Given the description of an element on the screen output the (x, y) to click on. 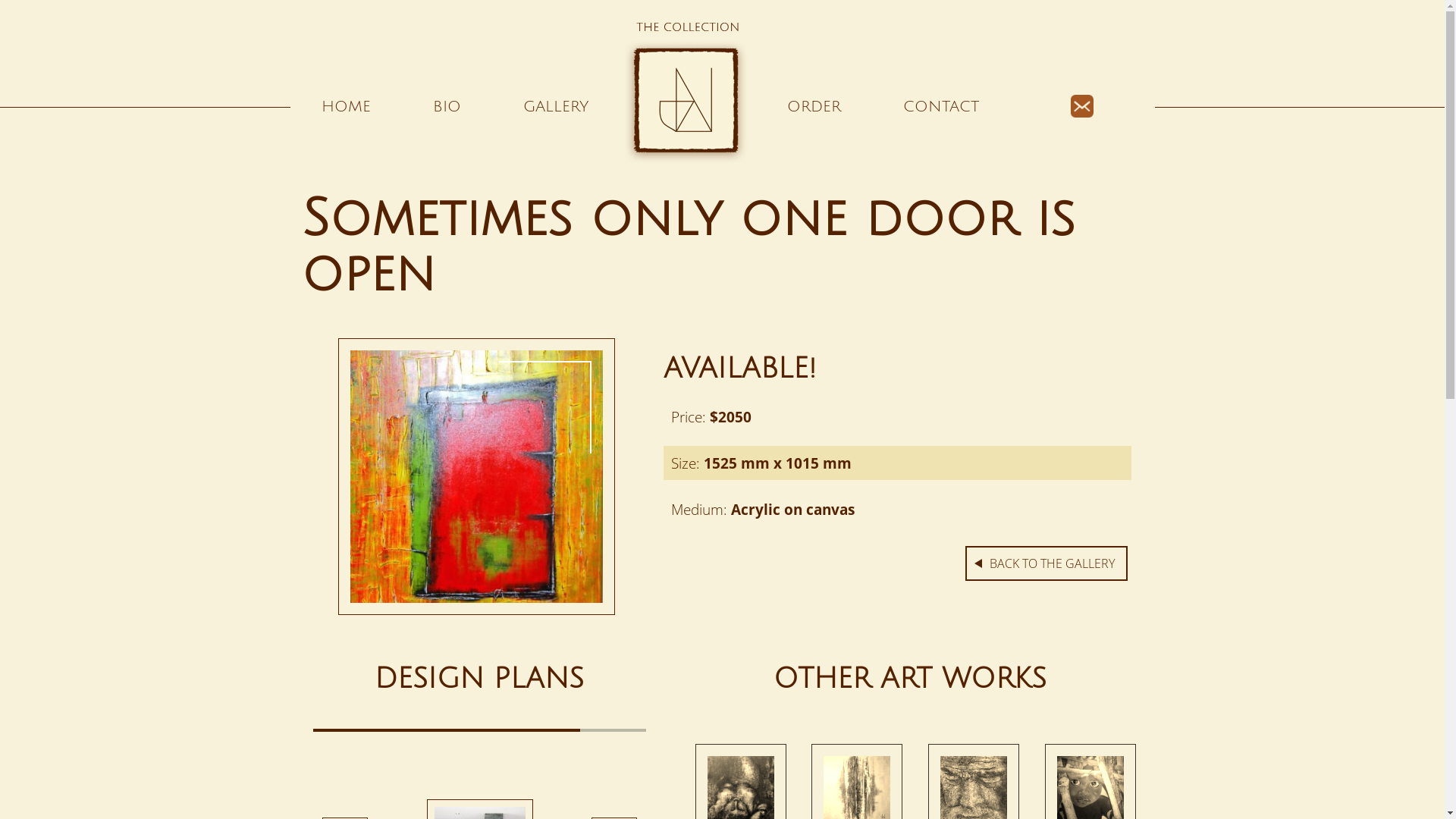
BACK TO THE GALLERY Element type: text (1046, 563)
ORDER Element type: text (813, 106)
GALLERY Element type: text (554, 106)
CONTACT Element type: text (941, 106)
HOME Element type: text (345, 106)
BIO Element type: text (446, 106)
